Given the description of an element on the screen output the (x, y) to click on. 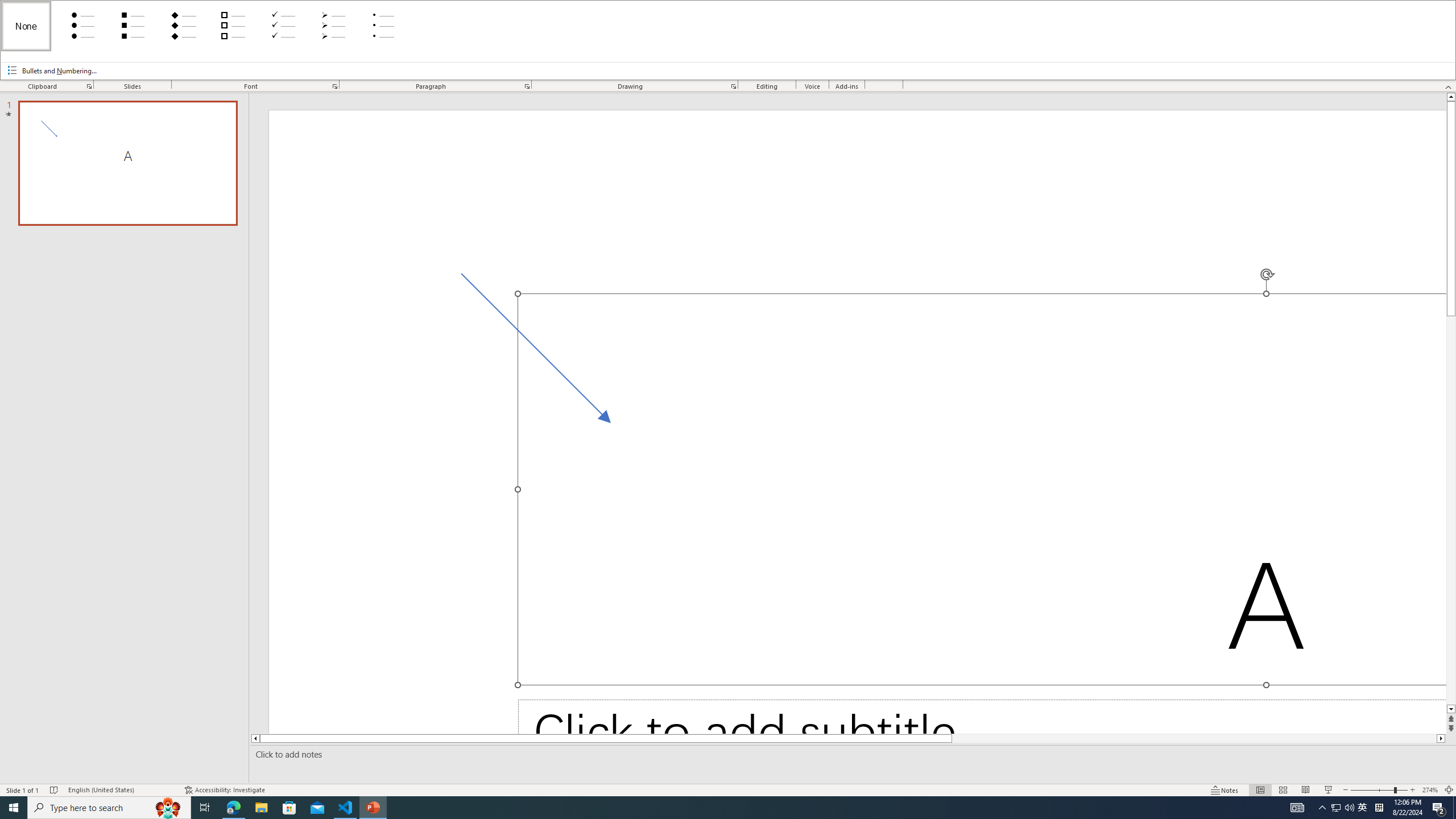
Zoom 274% (1430, 790)
